Given the description of an element on the screen output the (x, y) to click on. 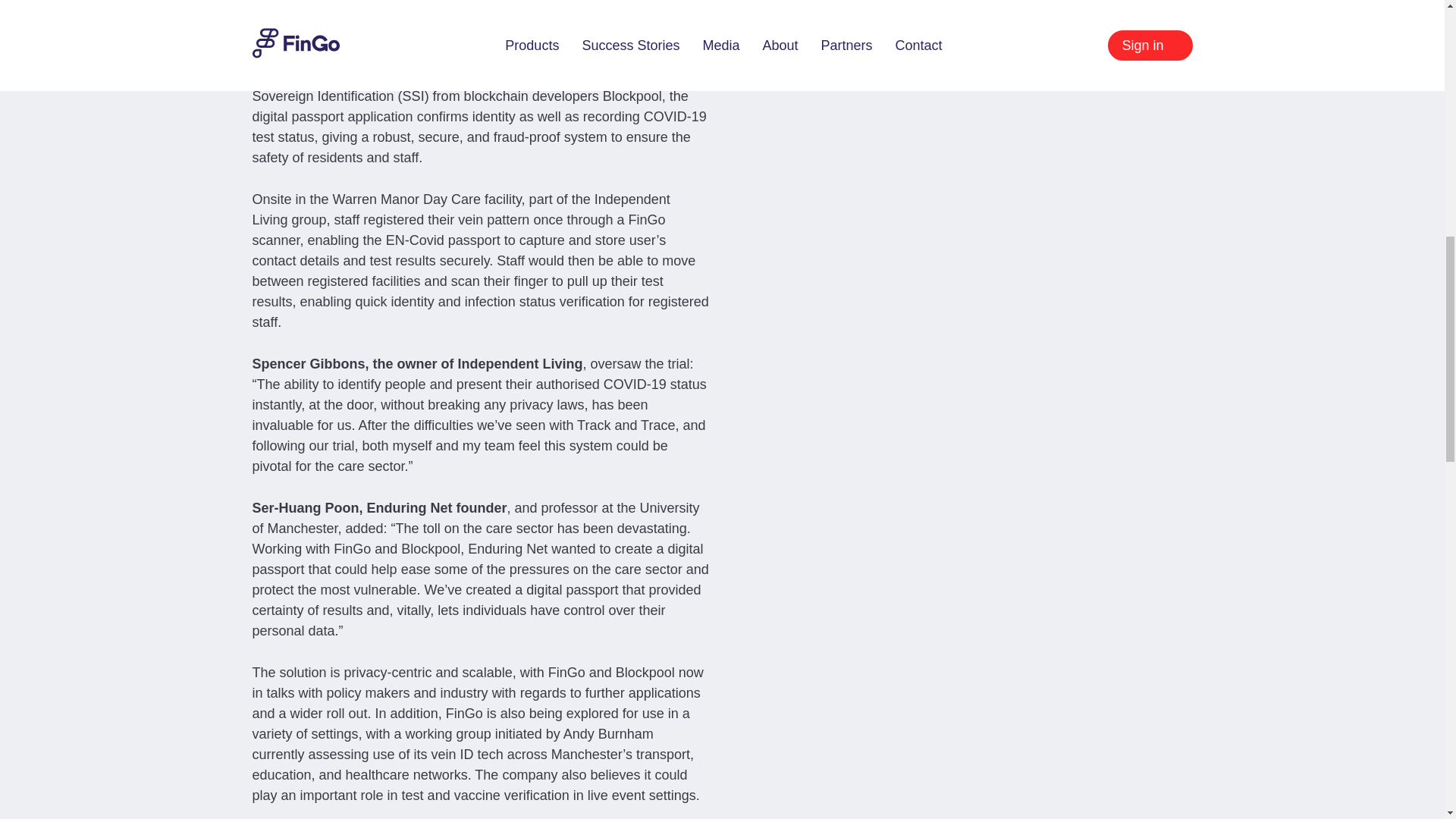
digital passport application (331, 116)
